Given the description of an element on the screen output the (x, y) to click on. 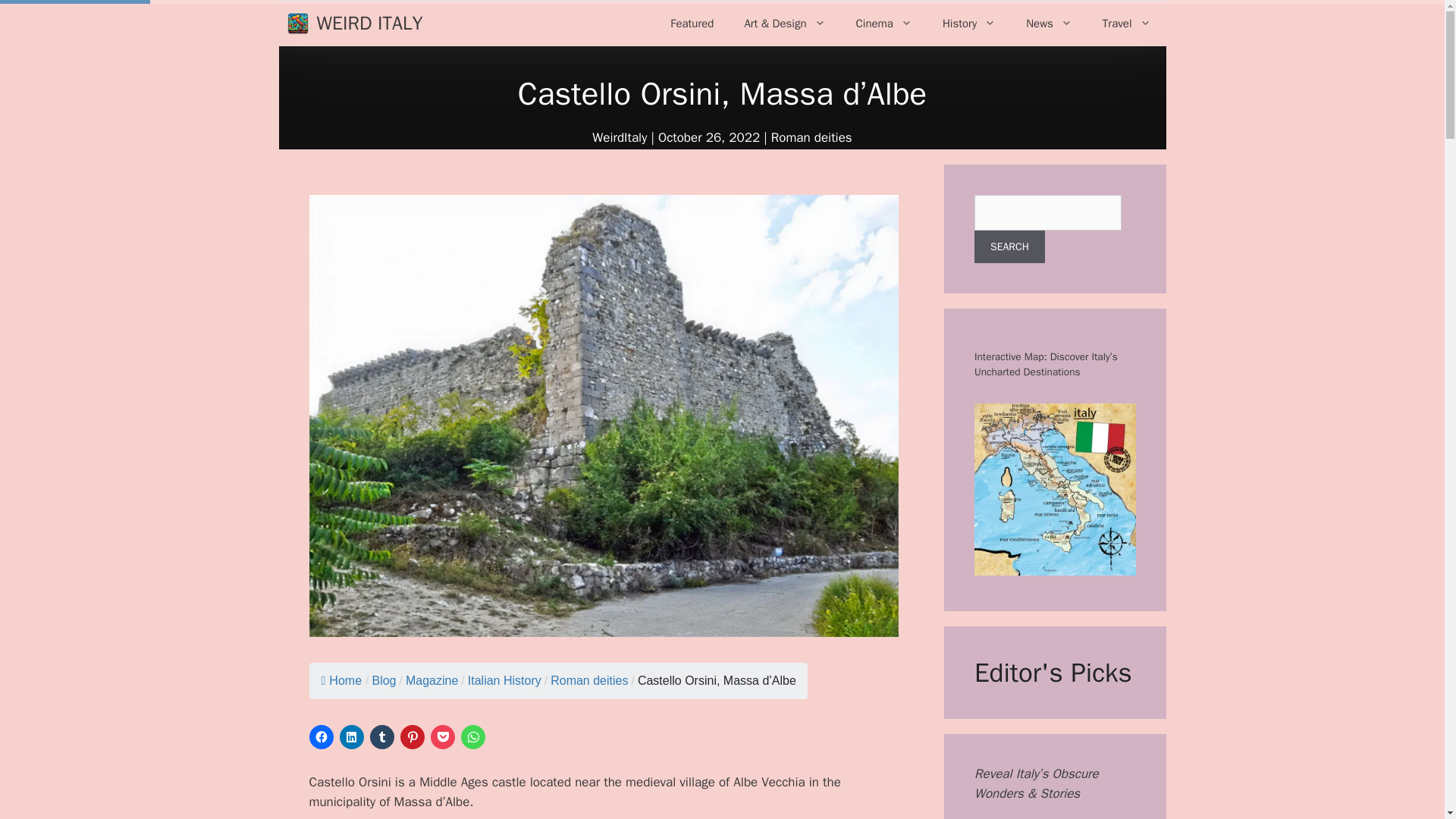
WEIRD ITALY (370, 23)
Category Name (432, 680)
Travel (1126, 22)
Cinema (884, 22)
News (1048, 22)
Weird Italy (301, 23)
Blog (383, 680)
Roman deities (588, 680)
Weird Italy (297, 23)
History (968, 22)
Roman deities (588, 680)
Click to share on Facebook (320, 736)
Magazine (432, 680)
Italian History (504, 680)
View all posts by WeirdItaly (619, 137)
